Given the description of an element on the screen output the (x, y) to click on. 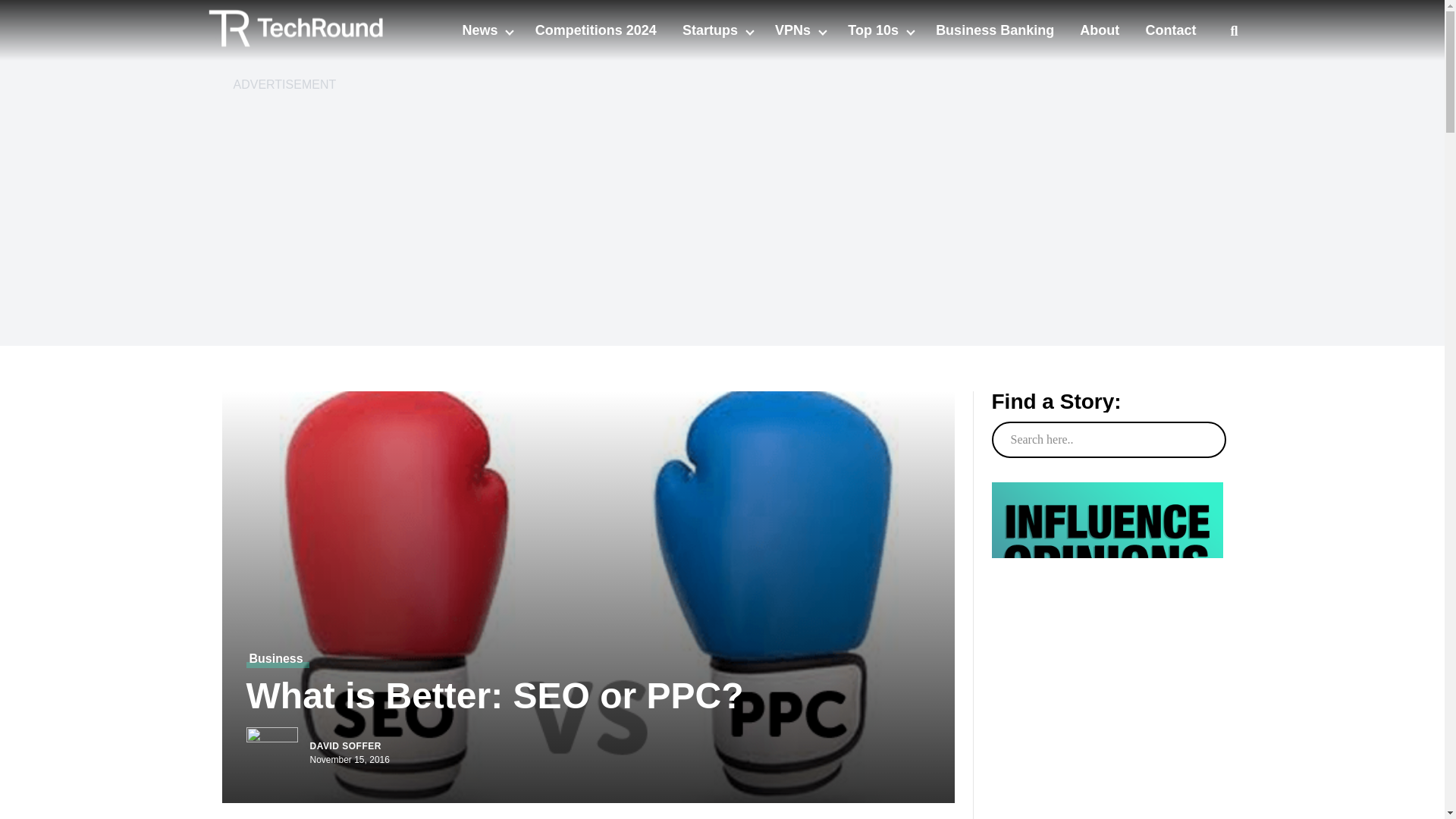
VPNs (793, 30)
Startups (711, 30)
Top 10s (874, 30)
News (480, 30)
Competitions 2024 (596, 30)
